Given the description of an element on the screen output the (x, y) to click on. 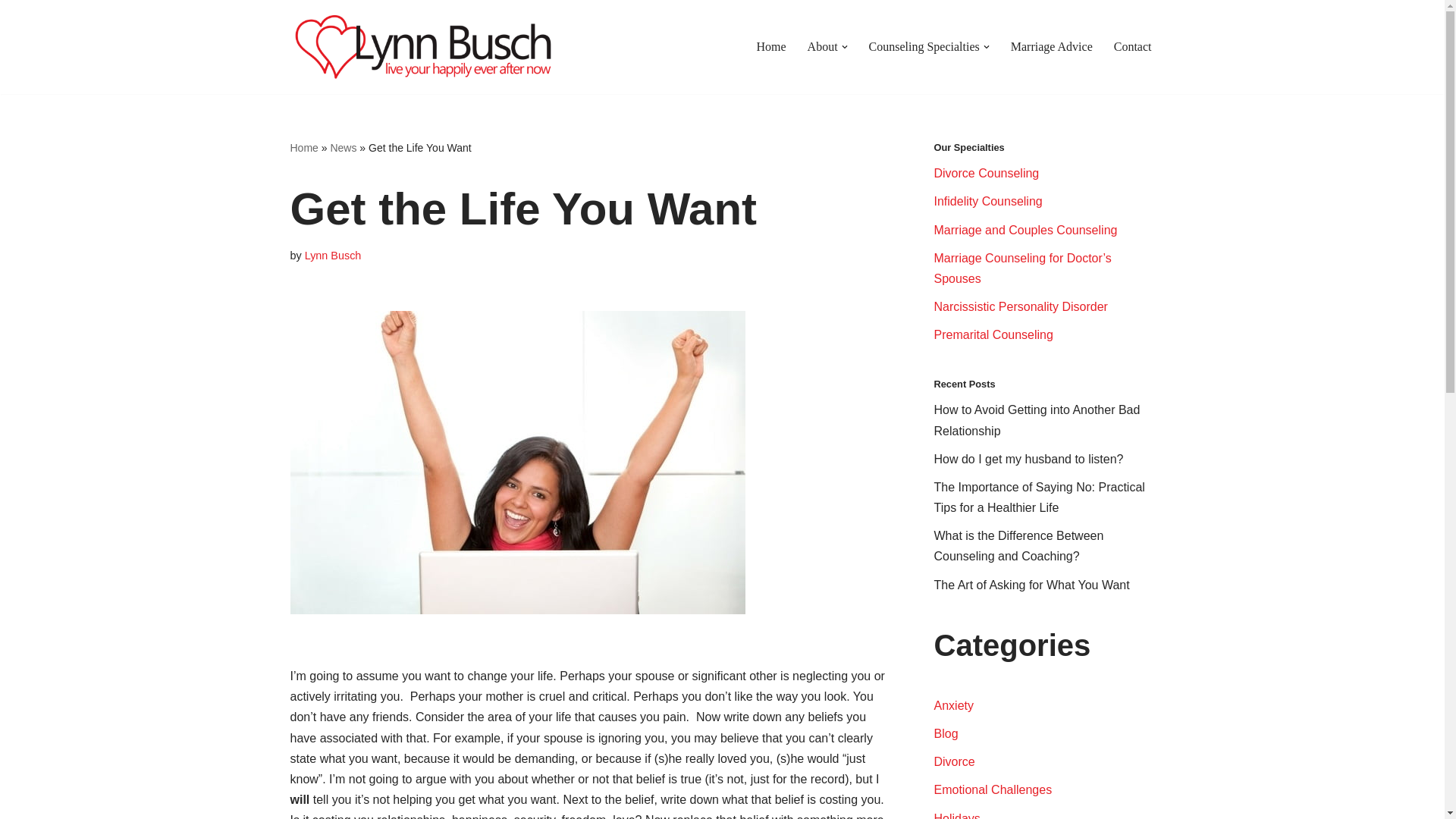
Home (303, 146)
Marriage and Couples Counseling (1026, 229)
Contact (1132, 46)
Divorce Counseling (986, 173)
Infidelity Counseling (988, 201)
Skip to content (11, 31)
About (823, 46)
Posts by Lynn Busch (332, 255)
Lynn Busch (332, 255)
News (343, 146)
Marriage Advice (1051, 46)
Counseling Specialties (924, 46)
Premarital Counseling (993, 334)
Narcissistic Personality Disorder (1021, 306)
